Given the description of an element on the screen output the (x, y) to click on. 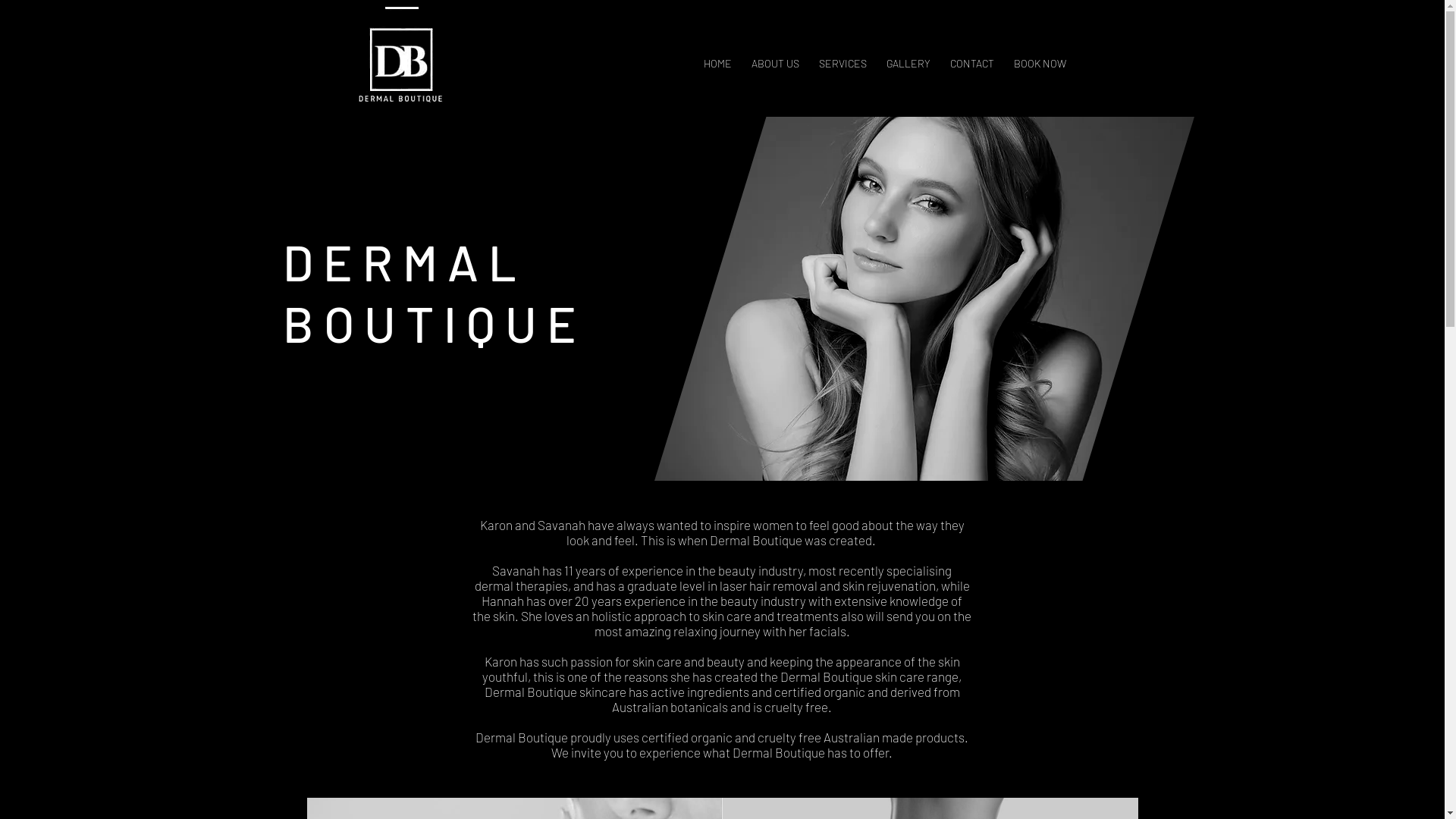
ABOUT US Element type: text (775, 56)
HOME Element type: text (717, 56)
GALLERY Element type: text (908, 56)
CONTACT Element type: text (972, 56)
BOOK NOW Element type: text (1040, 56)
